Given the description of an element on the screen output the (x, y) to click on. 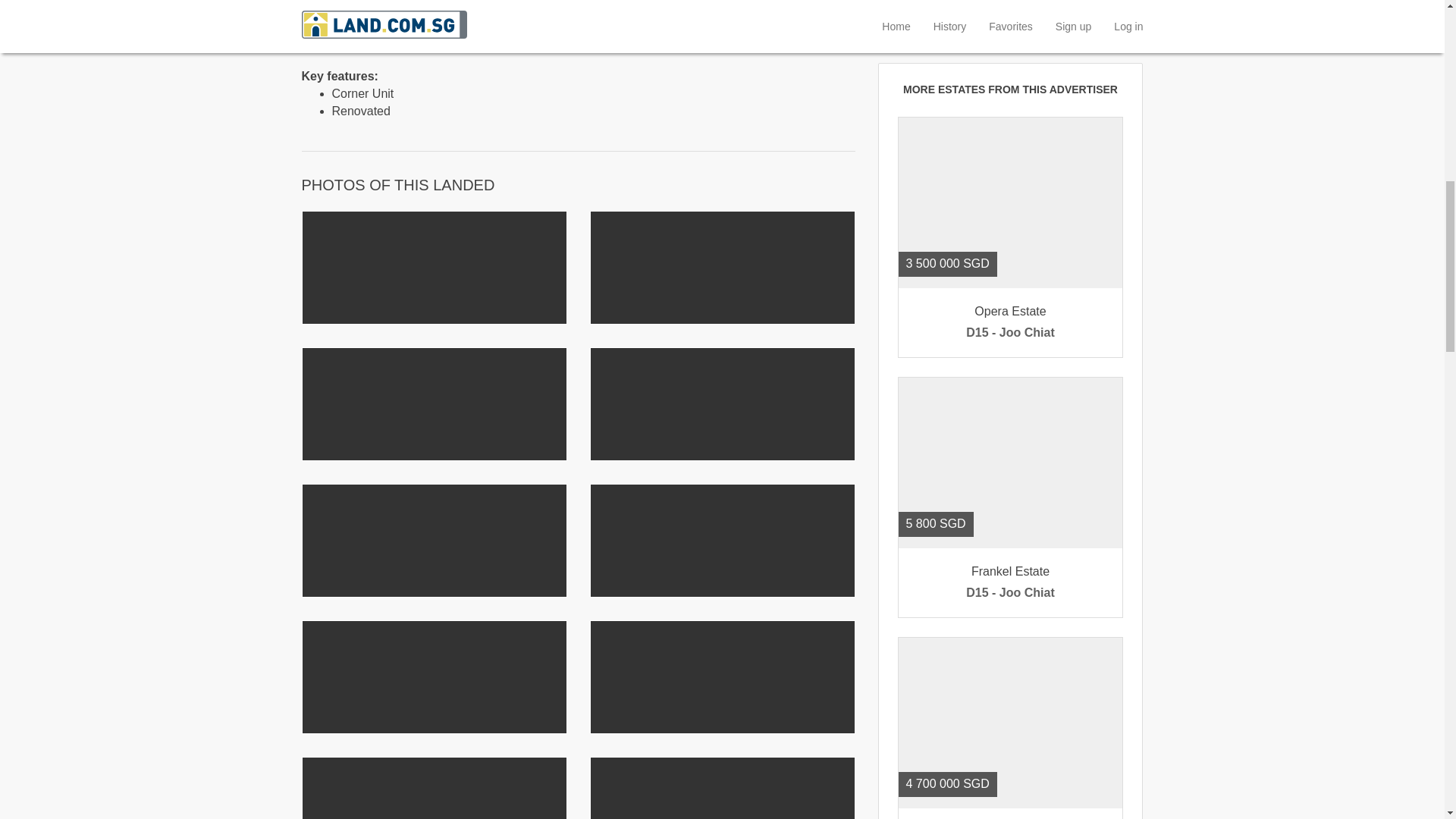
Favorite (919, 137)
3 500 000 SGD (1010, 322)
5 800 SGD (1010, 582)
4 700 000 SGD (1010, 202)
Send message (1010, 462)
Opera Estate (1010, 723)
Frankel Estate (1010, 18)
Favorite (1010, 322)
